Given the description of an element on the screen output the (x, y) to click on. 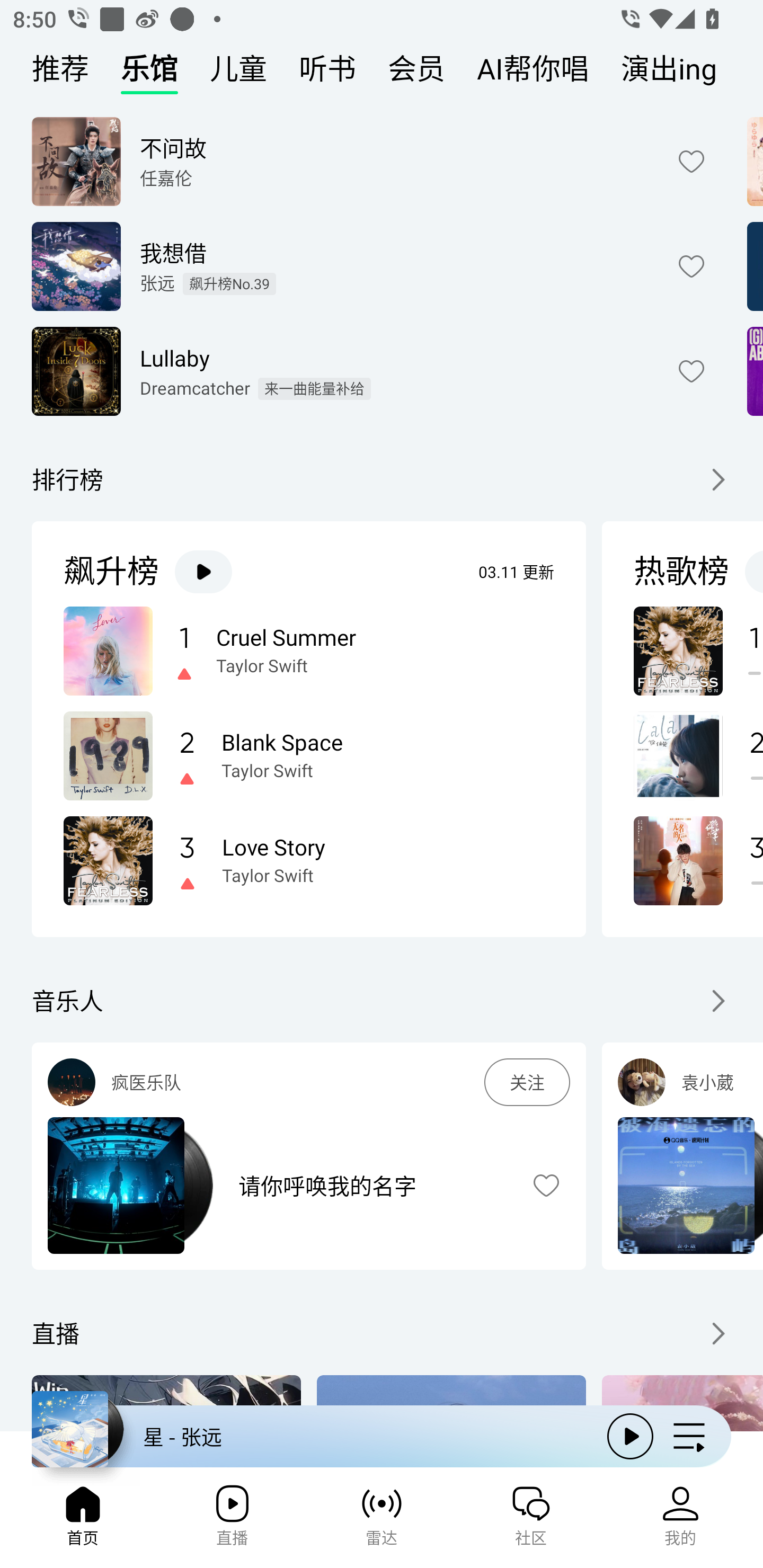
推荐 (60, 73)
乐馆 (149, 73)
儿童 (238, 73)
听书 (327, 73)
会员 (416, 73)
AI帮你唱 (532, 73)
演出ing (668, 73)
不问故 (395, 147)
收藏 (691, 161)
任嘉伦 (165, 177)
我想借 (395, 252)
收藏 (691, 266)
张远 (156, 282)
飙升榜No.39 (229, 283)
Lullaby (395, 357)
收藏 (691, 371)
Dreamcatcher (194, 387)
来一曲能量补给 (313, 388)
排行榜 (67, 479)
更多 (716, 479)
播放 (202, 571)
飙升榜 (110, 572)
热歌榜 (681, 572)
03.11 更新 (515, 572)
1 Cruel Summer Taylor Swift (308, 651)
2 Blank Space Taylor Swift (308, 755)
3 Love Story Taylor Swift (308, 860)
音乐人 (67, 1000)
更多 (716, 1000)
关注 (526, 1081)
疯医乐队 (297, 1081)
袁小葳 (722, 1081)
收藏 (545, 1184)
请你呼唤我的名字 (370, 1186)
直播 (55, 1333)
更多 (716, 1333)
星 - 张远 (311, 1435)
播放 (630, 1435)
歌曲队列 (688, 1435)
首页 (82, 1521)
直播 (231, 1521)
雷达 (381, 1521)
社区 (530, 1521)
我的 (680, 1521)
